Given the description of an element on the screen output the (x, y) to click on. 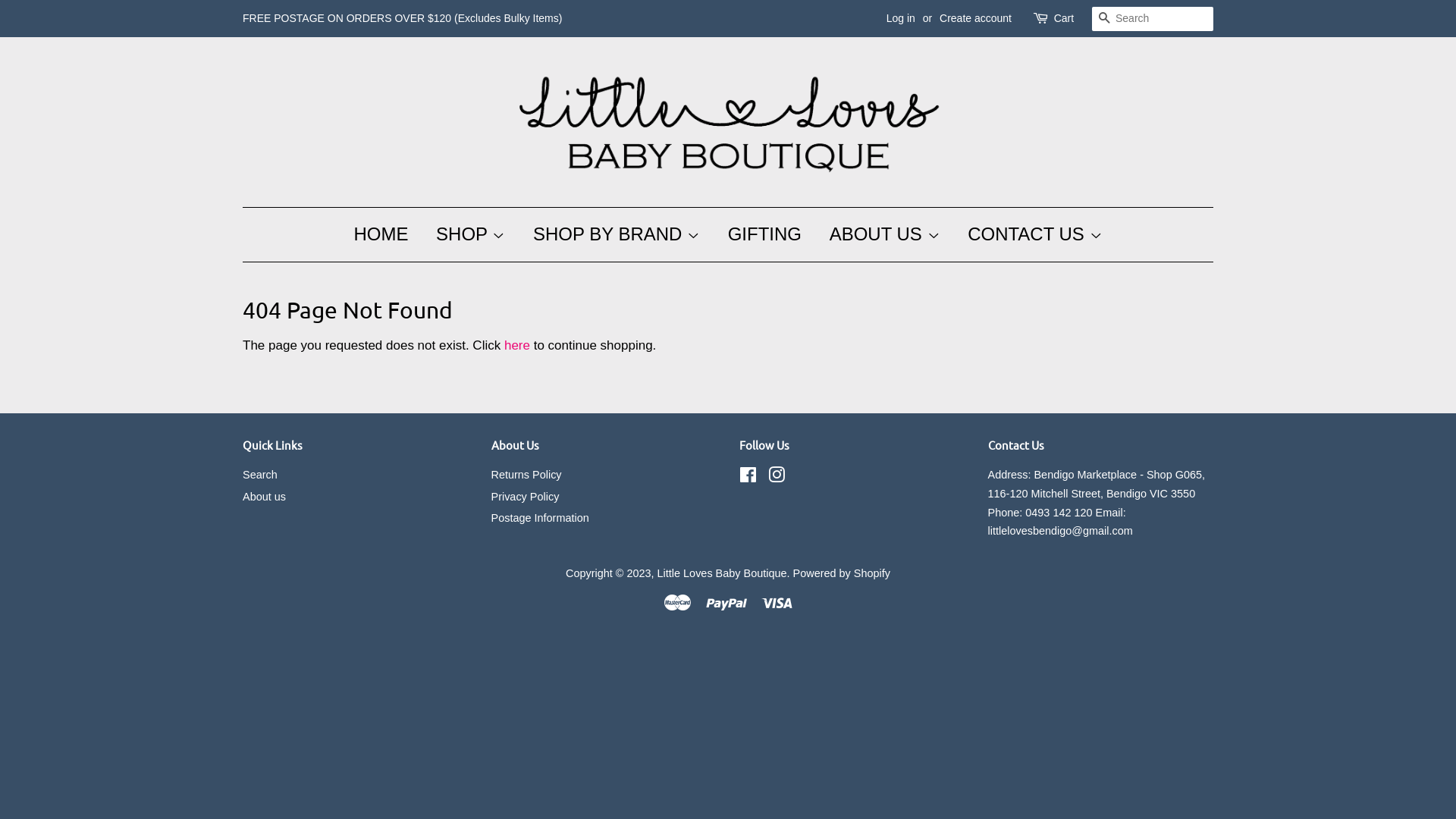
Little Loves Baby Boutique Element type: text (722, 573)
SHOP BY BRAND Element type: text (616, 234)
Search Element type: text (259, 474)
Returns Policy Element type: text (526, 474)
here Element type: text (517, 345)
Create account Element type: text (975, 18)
About us Element type: text (263, 496)
ABOUT US Element type: text (884, 234)
CONTACT US Element type: text (1028, 234)
Log in Element type: text (900, 18)
Facebook Element type: text (747, 477)
Cart Element type: text (1063, 18)
Privacy Policy Element type: text (525, 496)
GIFTING Element type: text (764, 234)
HOME Element type: text (386, 234)
SHOP Element type: text (470, 234)
Powered by Shopify Element type: text (841, 573)
Instagram Element type: text (776, 477)
Postage Information Element type: text (540, 517)
SEARCH Element type: text (1104, 18)
